Given the description of an element on the screen output the (x, y) to click on. 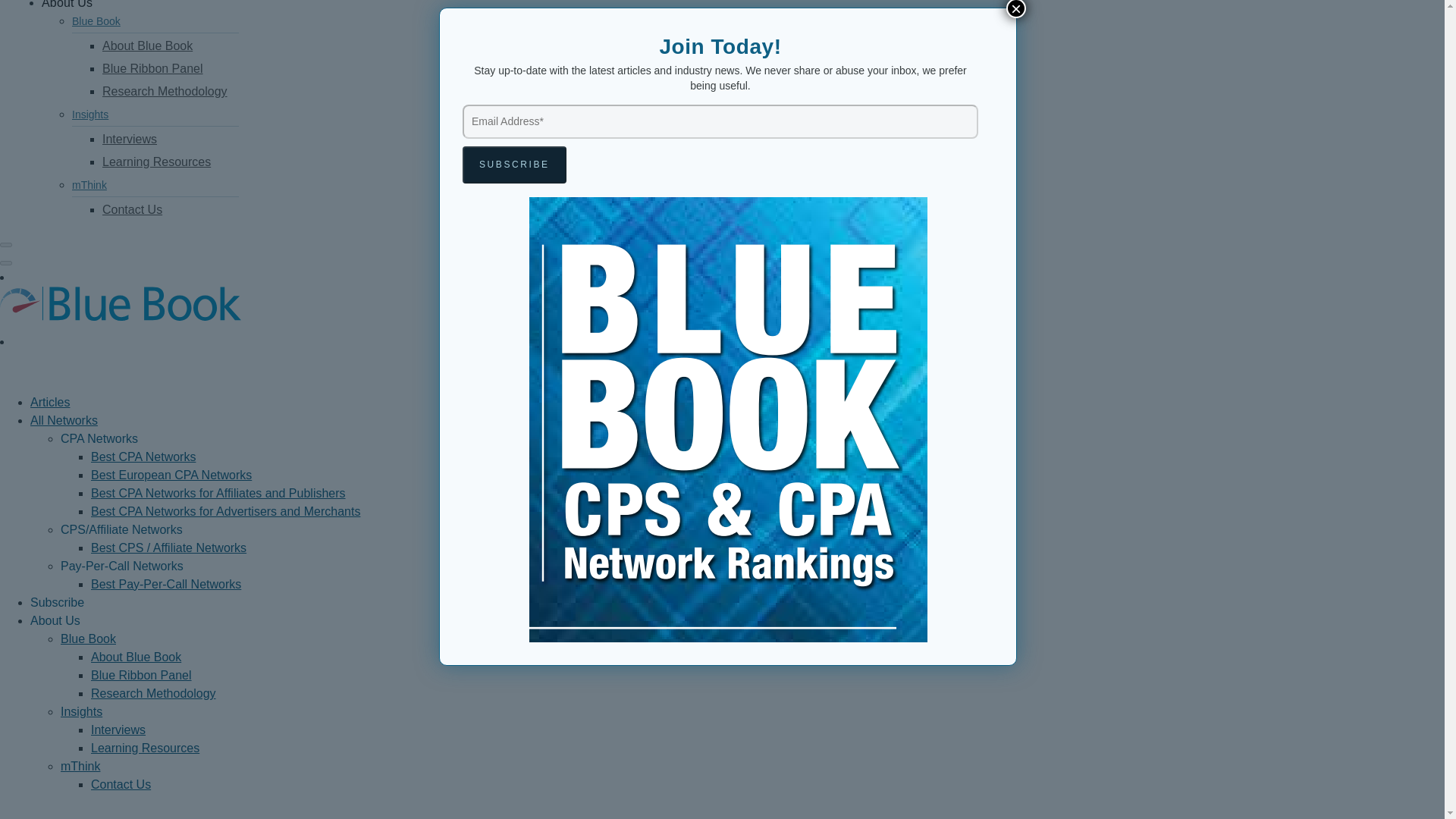
About Us (67, 4)
